Given the description of an element on the screen output the (x, y) to click on. 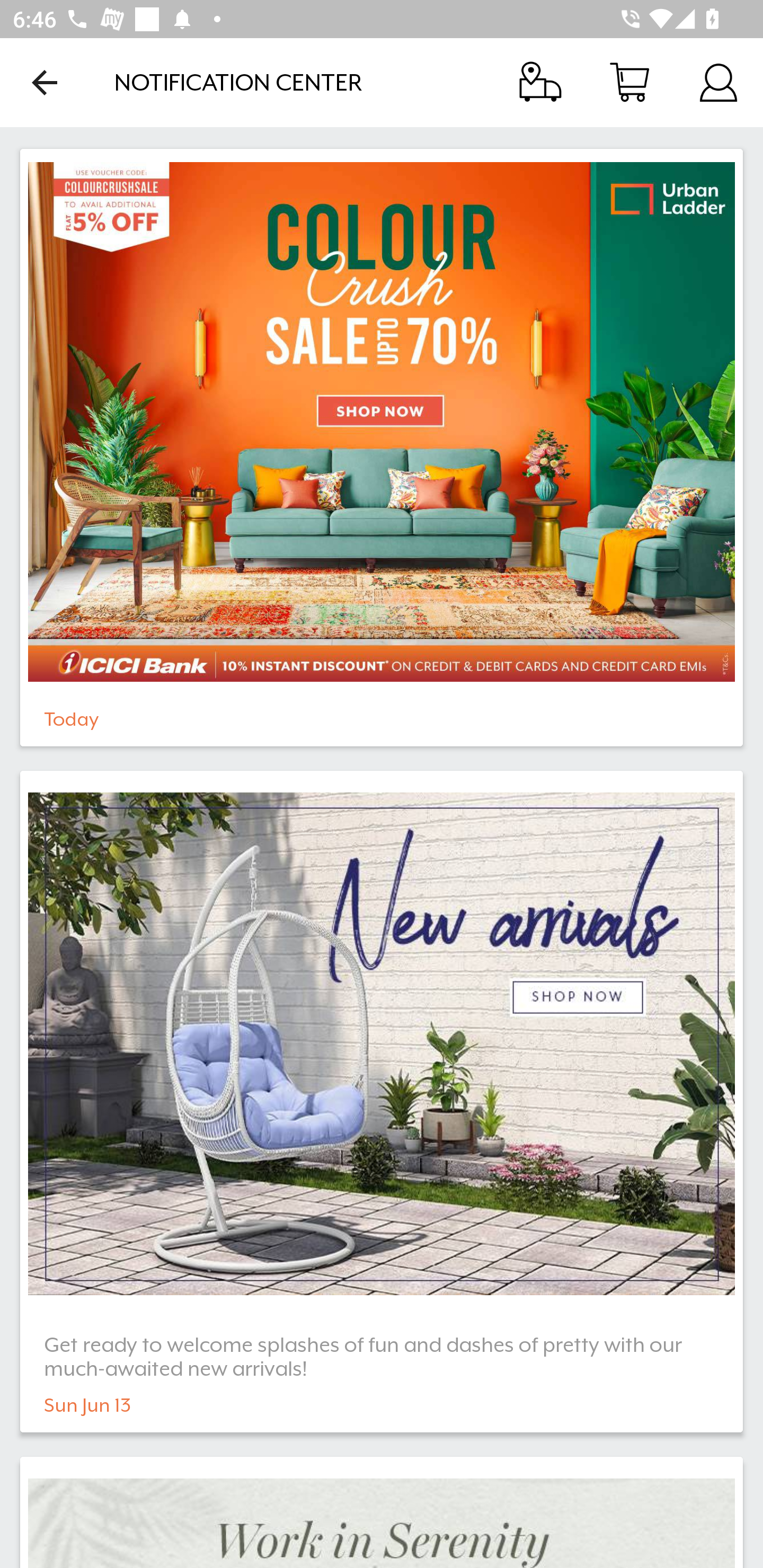
Navigate up (44, 82)
Track Order (540, 81)
Cart (629, 81)
Account Details (718, 81)
Today (381, 447)
